Given the description of an element on the screen output the (x, y) to click on. 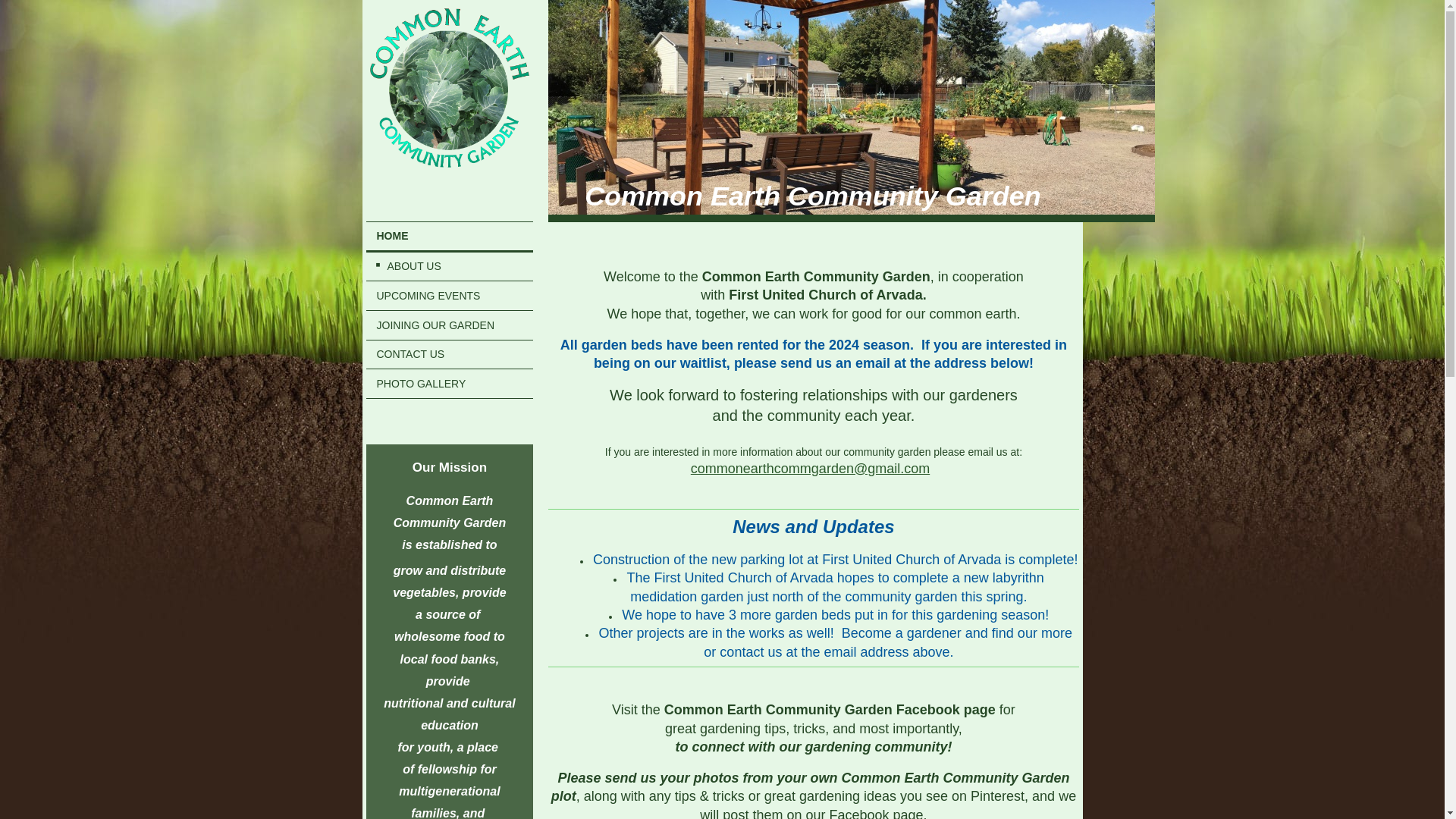
ABOUT US (448, 265)
JOINING OUR GARDEN (448, 325)
PHOTO GALLERY (448, 383)
UPCOMING EVENTS (448, 295)
CONTACT US (448, 354)
HOME (448, 236)
Common Earth Community Garden (813, 195)
